Given the description of an element on the screen output the (x, y) to click on. 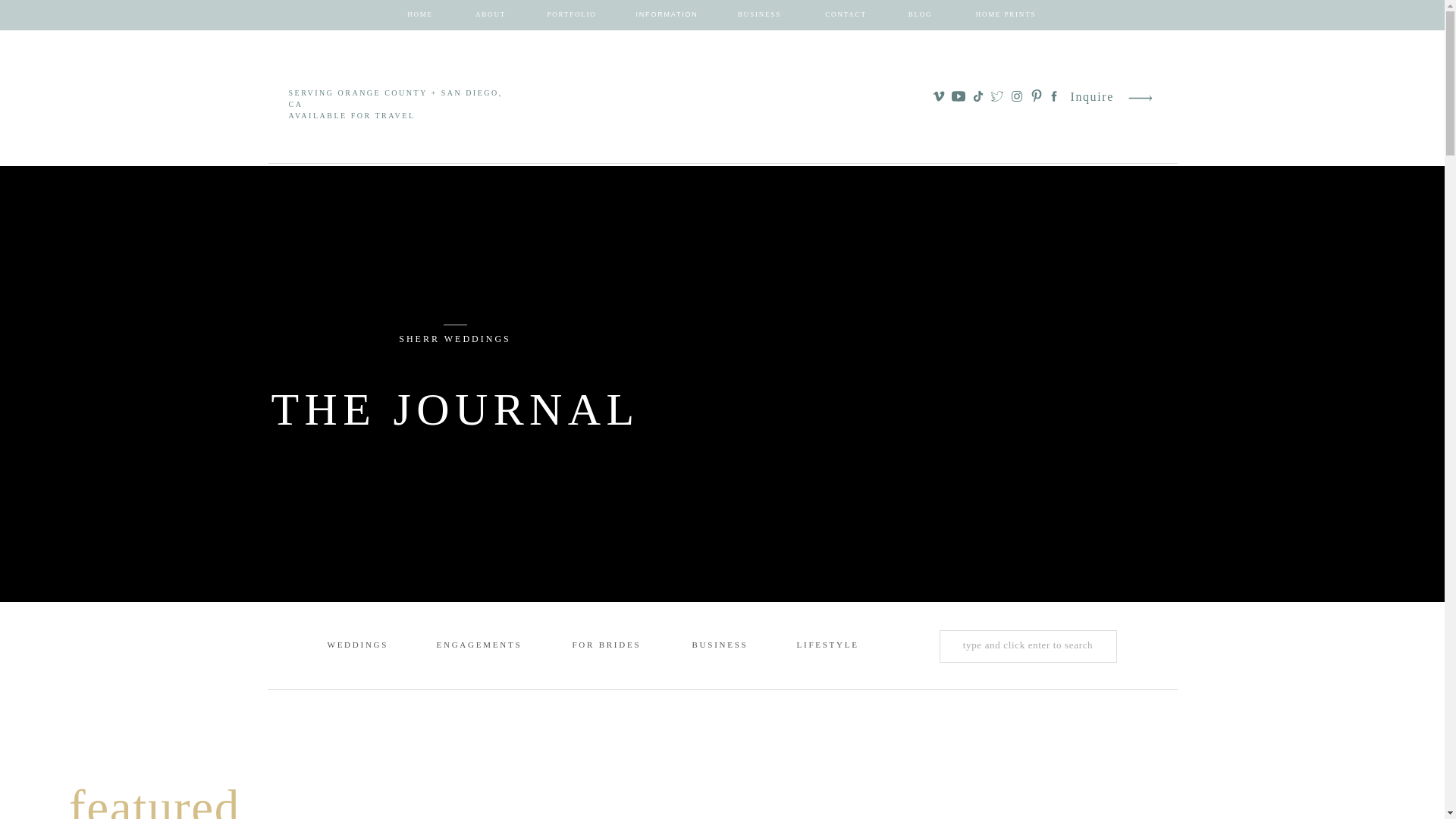
arrow (1140, 98)
Inquire  (1092, 97)
BLOG (920, 15)
HOME PRINTS (1006, 15)
PORTFOLIO (571, 15)
HOME (419, 15)
CONTACT (846, 15)
arrow (1140, 98)
BUSINESS (759, 15)
ABOUT (489, 15)
